Given the description of an element on the screen output the (x, y) to click on. 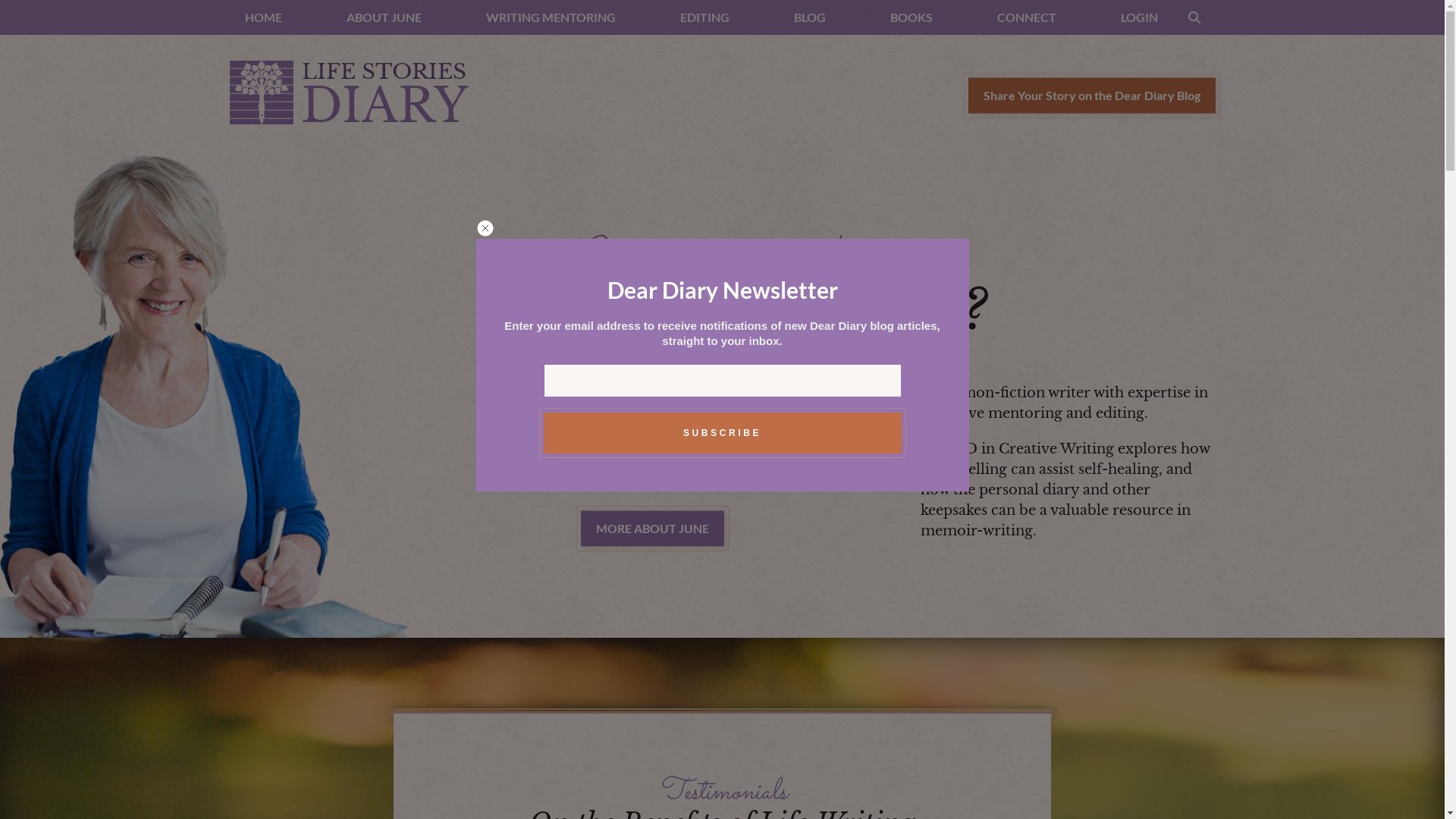
Subscribe Element type: text (721, 432)
CONNECT Element type: text (1025, 17)
WRITING MENTORING Element type: text (550, 17)
ABOUT JUNE Element type: text (383, 17)
BOOKS Element type: text (911, 17)
Search Life Stories Diary Element type: hover (1193, 17)
LIFE STORIES
DIARY Element type: text (348, 94)
EDITING Element type: text (703, 17)
Share Your Story on the Dear Diary Blog Element type: text (1090, 95)
LOGIN Element type: text (1139, 17)
Close Element type: hover (485, 233)
MORE ABOUT JUNE Element type: text (652, 528)
HOME Element type: text (262, 17)
BLOG Element type: text (809, 17)
